Given the description of an element on the screen output the (x, y) to click on. 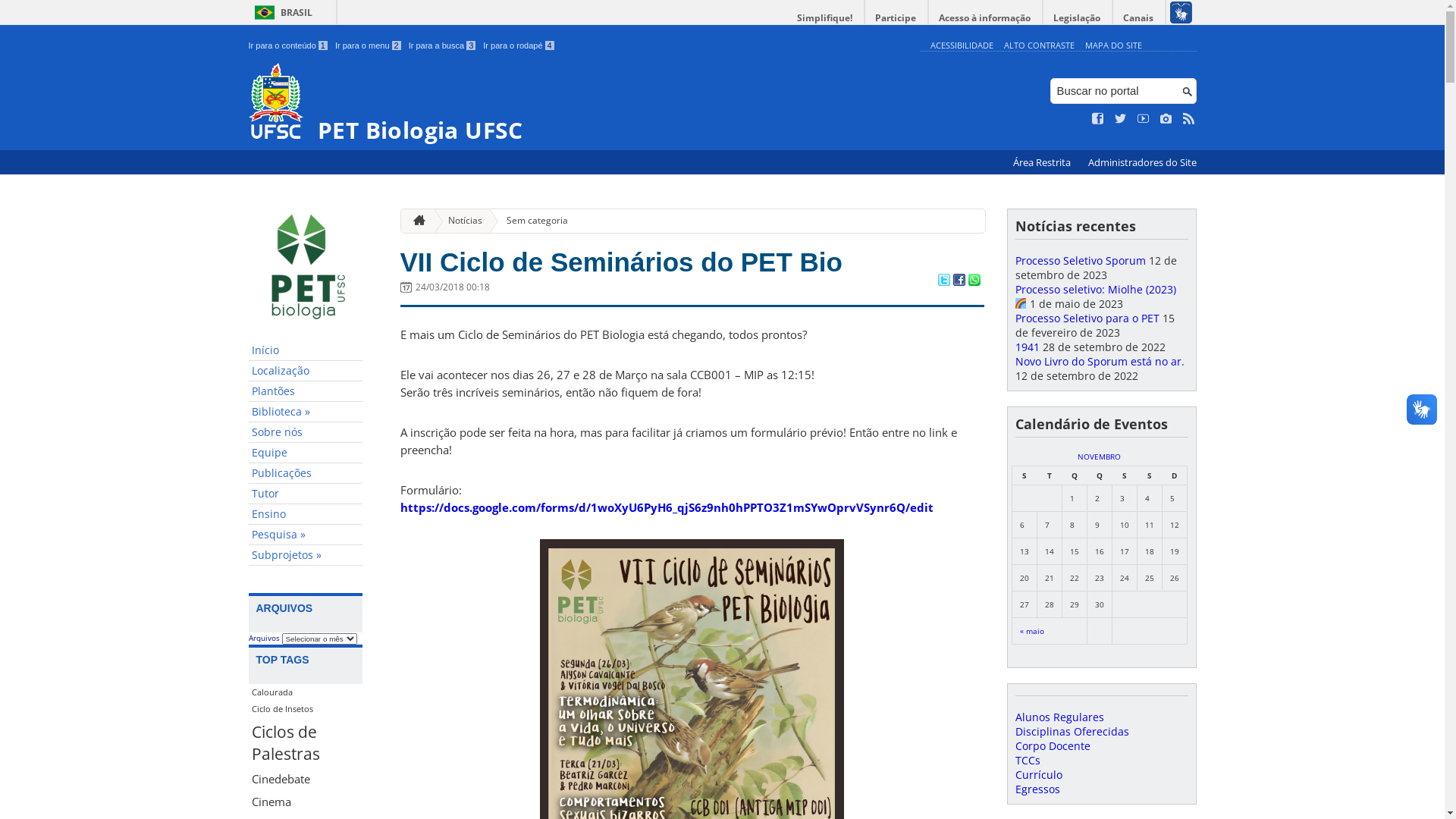
Ciclos de Palestras Element type: text (305, 742)
Ciclo de Insetos Element type: text (305, 708)
Alunos Regulares Element type: text (1058, 716)
Egressos Element type: text (1036, 788)
Administradores do Site Element type: text (1141, 162)
Participe Element type: text (895, 18)
MAPA DO SITE Element type: text (1112, 44)
Disciplinas Oferecidas Element type: text (1071, 731)
Tutor Element type: text (305, 493)
Curta no Facebook Element type: hover (1098, 118)
Compartilhar no Twitter Element type: hover (943, 280)
Ir para o menu 2 Element type: text (368, 45)
Processo Seletivo Sporum Element type: text (1079, 260)
TCCs Element type: text (1026, 760)
Ensino Element type: text (305, 514)
Siga no Twitter Element type: hover (1120, 118)
Simplifique! Element type: text (825, 18)
ACESSIBILIDADE Element type: text (960, 44)
Processo Seletivo para o PET Element type: text (1086, 317)
NOVEMBRO Element type: text (1098, 456)
Processo seletivo: Miolhe (2023) Element type: text (1094, 296)
Compartilhar no WhatsApp Element type: hover (973, 280)
Cinedebate Element type: text (305, 778)
Corpo Docente Element type: text (1051, 745)
ALTO CONTRASTE Element type: text (1039, 44)
Cinema Element type: text (305, 801)
BRASIL Element type: text (280, 12)
1941 Element type: text (1026, 346)
Veja no Instagram Element type: hover (1166, 118)
Compartilhar no Facebook Element type: hover (958, 280)
Equipe Element type: text (305, 452)
Ir para a busca 3 Element type: text (442, 45)
Canais Element type: text (1138, 18)
Sem categoria Element type: text (531, 220)
PET Biologia UFSC Element type: text (580, 102)
Calourada Element type: text (305, 692)
